Given the description of an element on the screen output the (x, y) to click on. 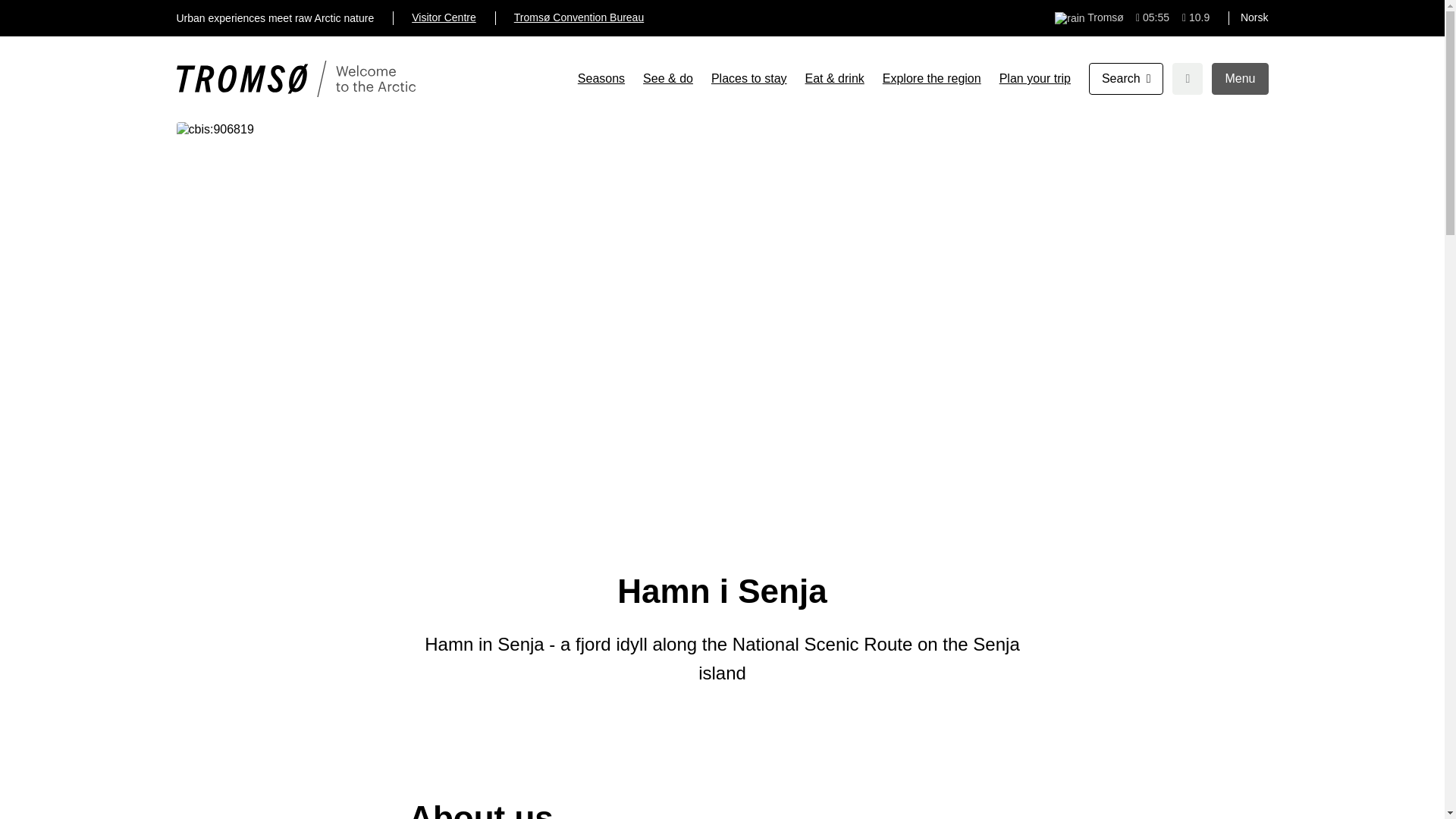
Places to stay (749, 78)
Norsk (1254, 18)
Menu (1239, 79)
Basket (1187, 79)
Visitor Centre (444, 18)
English (1257, 16)
Start page (295, 78)
Seasons (601, 78)
Plan your trip (1034, 78)
Basket (1187, 79)
